Given the description of an element on the screen output the (x, y) to click on. 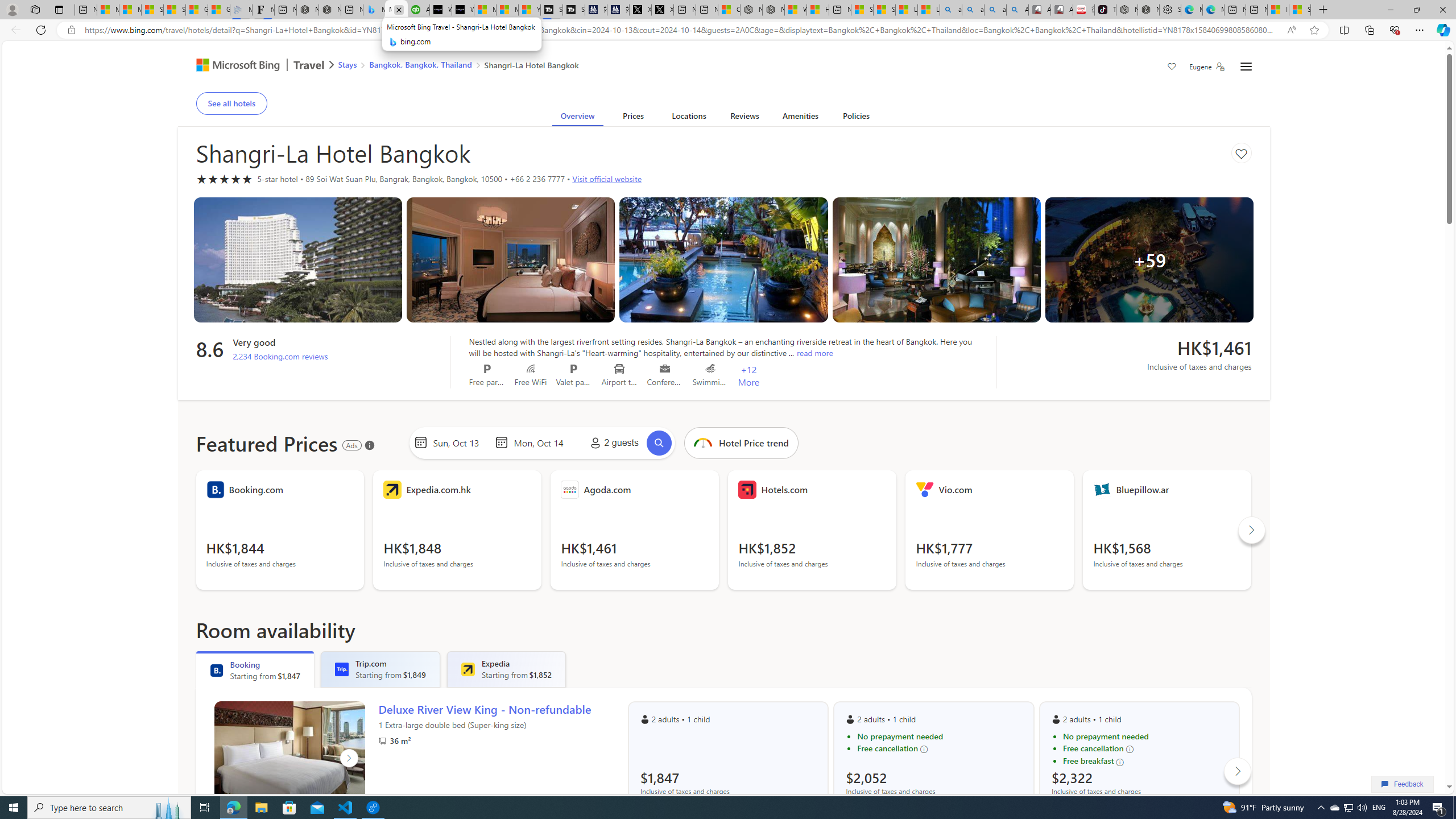
Microsoft Start (507, 9)
Amazon Echo Robot - Search Images (1017, 9)
Settings (1169, 9)
X (662, 9)
2 guests (611, 442)
Hotel Price trend (702, 442)
Locations (688, 118)
Microsoft Bing Travel - Shangri-La Hotel Bangkok (396, 9)
Close (1442, 9)
Start Date (460, 442)
